Given the description of an element on the screen output the (x, y) to click on. 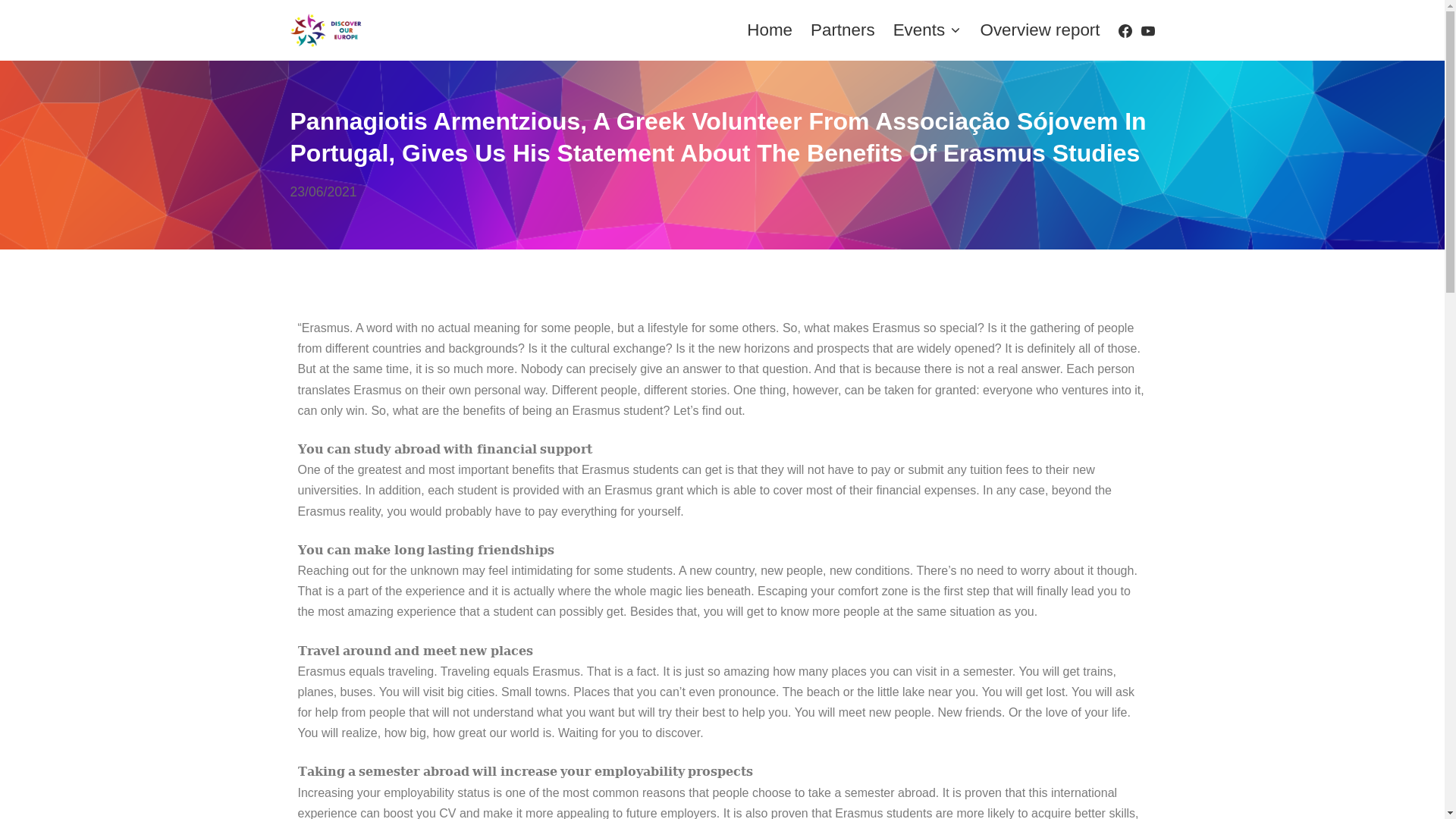
Partners (842, 30)
Home (769, 30)
Facebook (1125, 30)
Events (927, 30)
Overview report (1039, 30)
YouTube icon (1147, 30)
Youtube (1147, 30)
